Given the description of an element on the screen output the (x, y) to click on. 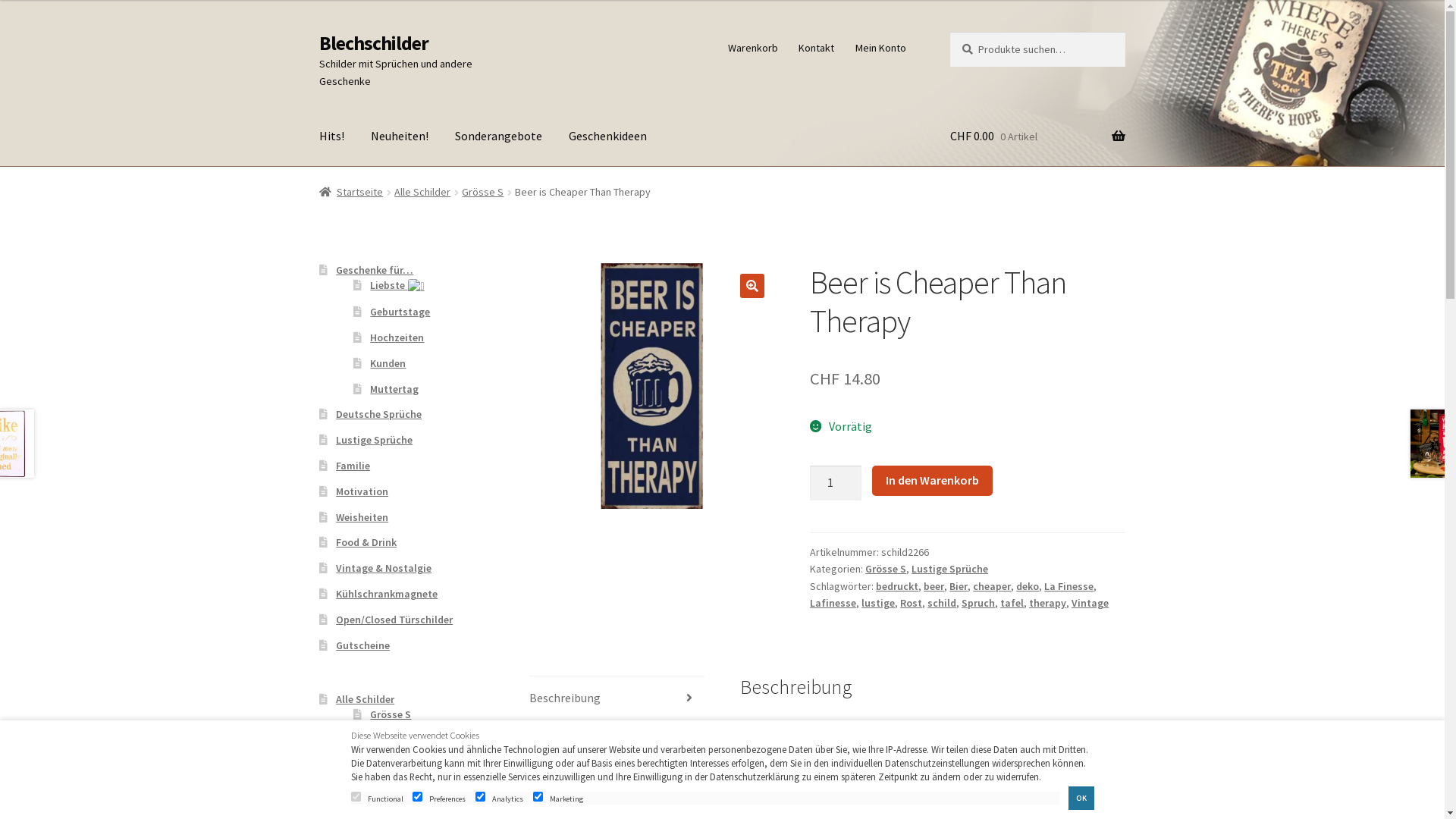
therapy Element type: text (1047, 602)
Vintage Element type: text (1089, 602)
Food & Drink Element type: text (365, 542)
CHF 0.00 0 Artikel Element type: text (1037, 136)
Hochzeiten Element type: text (396, 337)
Lafinesse Element type: text (832, 602)
beer Element type: text (933, 586)
Menge Element type: hover (835, 482)
Motivation Element type: text (361, 491)
Kunden Element type: text (387, 363)
Bewertungen (0) Element type: text (616, 787)
lustige Element type: text (877, 602)
Alle Schilder Element type: text (422, 191)
Familie Element type: text (352, 465)
Zur Navigation springen Element type: text (318, 31)
tafel Element type: text (1011, 602)
Rost Element type: text (911, 602)
OK Element type: text (1080, 797)
Hits! Element type: text (331, 136)
Gutscheine Element type: text (362, 645)
deko Element type: text (1027, 586)
Muttertag Element type: text (394, 388)
Sonderangebote Element type: text (498, 136)
In den Warenkorb Element type: text (932, 480)
cheaper Element type: text (991, 586)
Beschreibung Element type: text (616, 698)
Vintage & Nostalgie Element type: text (383, 567)
Liebste Element type: text (397, 284)
Suche Element type: text (949, 31)
Mein Konto Element type: text (880, 47)
schild Element type: text (941, 602)
Geschenkideen Element type: text (607, 136)
Bier Element type: text (958, 586)
La Finesse Element type: text (1068, 586)
beer-is-cheaper-than-therapy Element type: hover (652, 385)
Blechschilder Element type: text (373, 43)
Spruch Element type: text (977, 602)
Weisheiten Element type: text (361, 517)
Warenkorb Element type: text (752, 47)
Geburtstage Element type: text (399, 311)
Kontakt Element type: text (816, 47)
bedruckt Element type: text (896, 586)
Alle Schilder Element type: text (364, 699)
Neuheiten! Element type: text (399, 136)
Startseite Element type: text (351, 191)
